Given the description of an element on the screen output the (x, y) to click on. 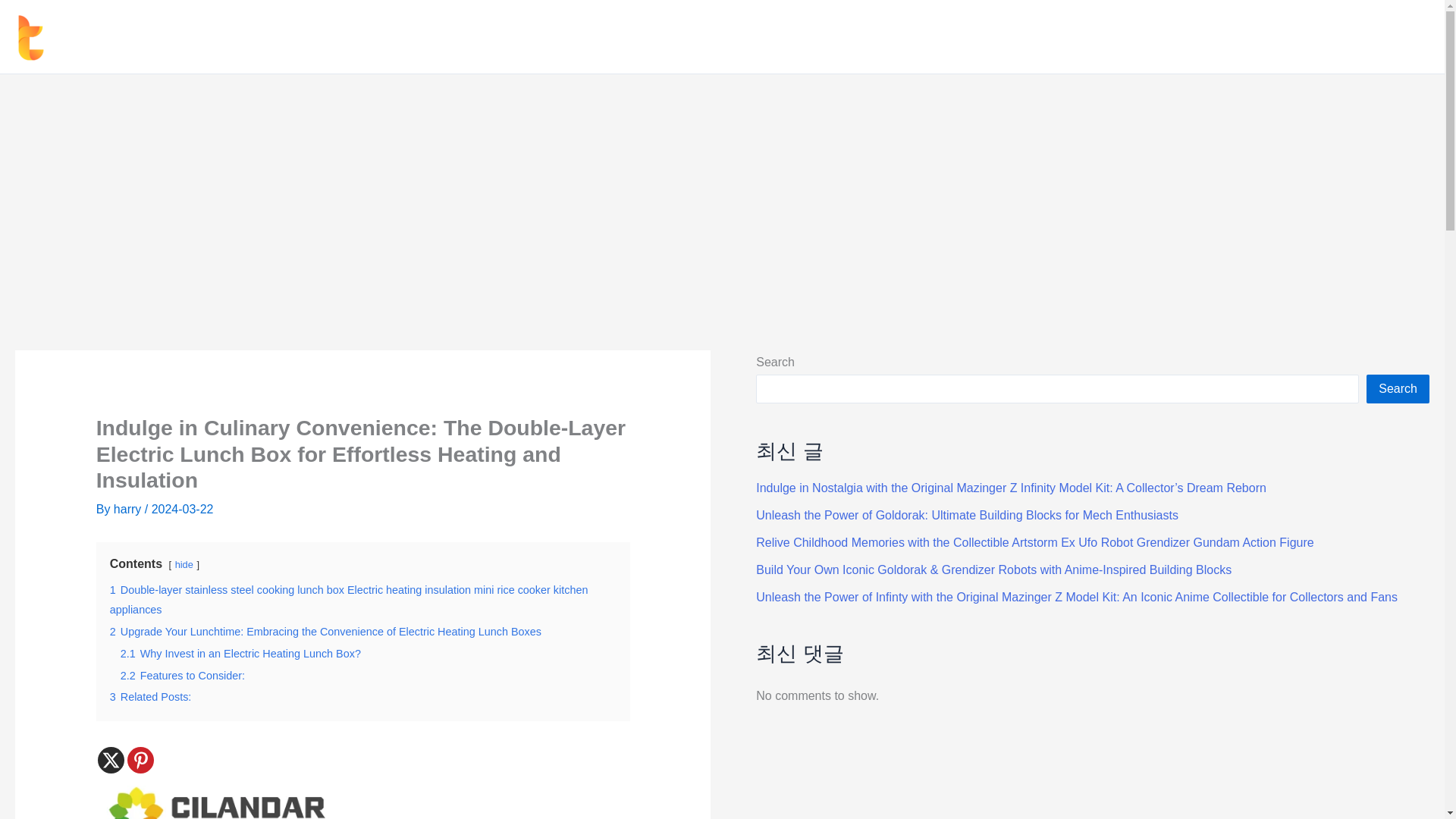
2.2 Features to Consider: (182, 675)
Pinterest (141, 759)
3 Related Posts: (151, 696)
2.1 Why Invest in an Electric Heating Lunch Box? (240, 653)
Search (1398, 388)
View all posts by harry (128, 508)
hide (183, 564)
X (110, 759)
harry (128, 508)
